Given the description of an element on the screen output the (x, y) to click on. 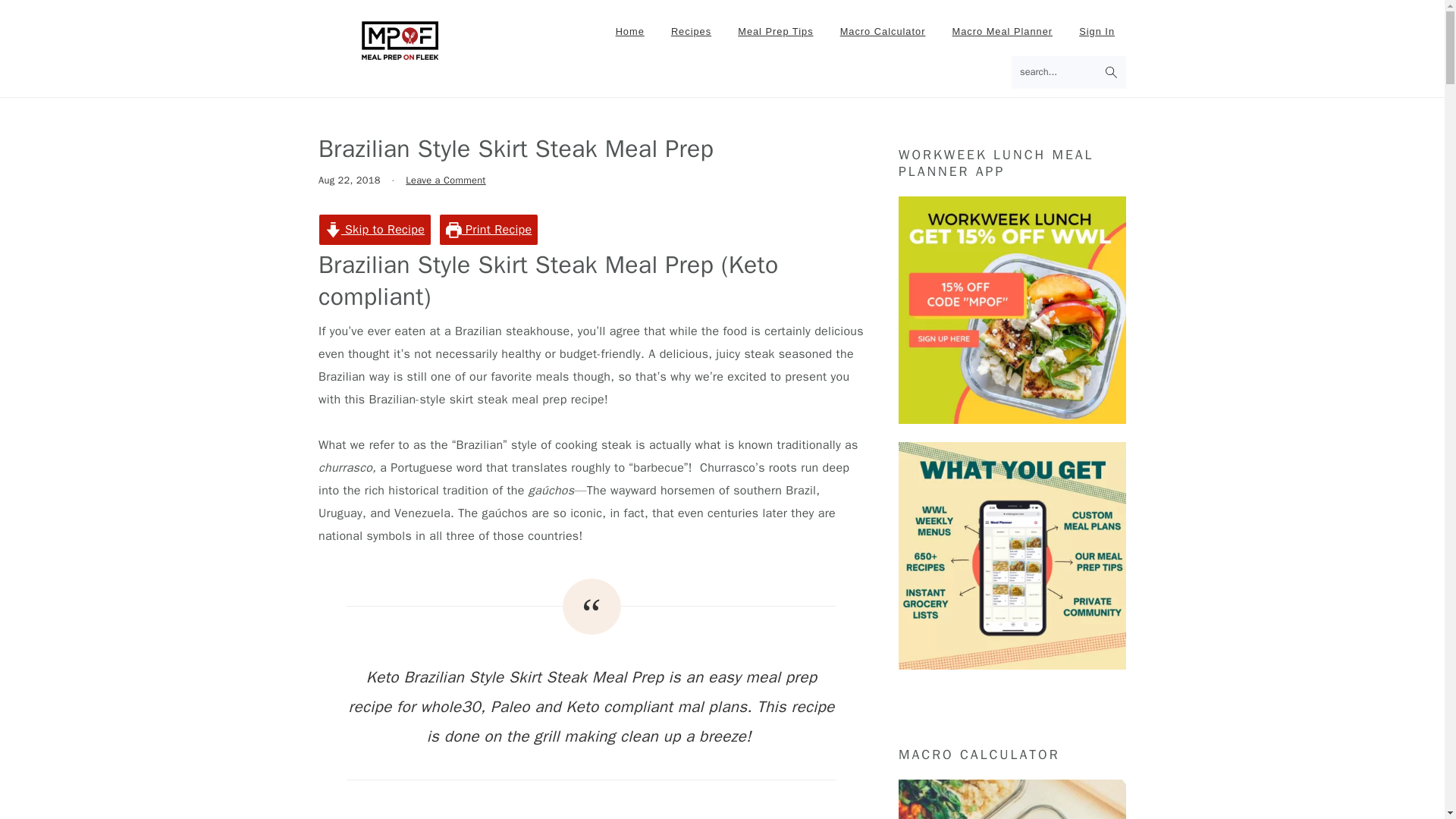
Macro Meal Planner (1002, 32)
Home (630, 32)
Leave a Comment (445, 180)
Sign In (1096, 32)
Macro Calculator (882, 32)
Skip to Recipe (374, 229)
Print Recipe (488, 229)
Meal Prep on Fleek (399, 40)
Recipes (690, 32)
Meal Prep Tips (775, 32)
Meal Prep on Fleek (399, 52)
